Given the description of an element on the screen output the (x, y) to click on. 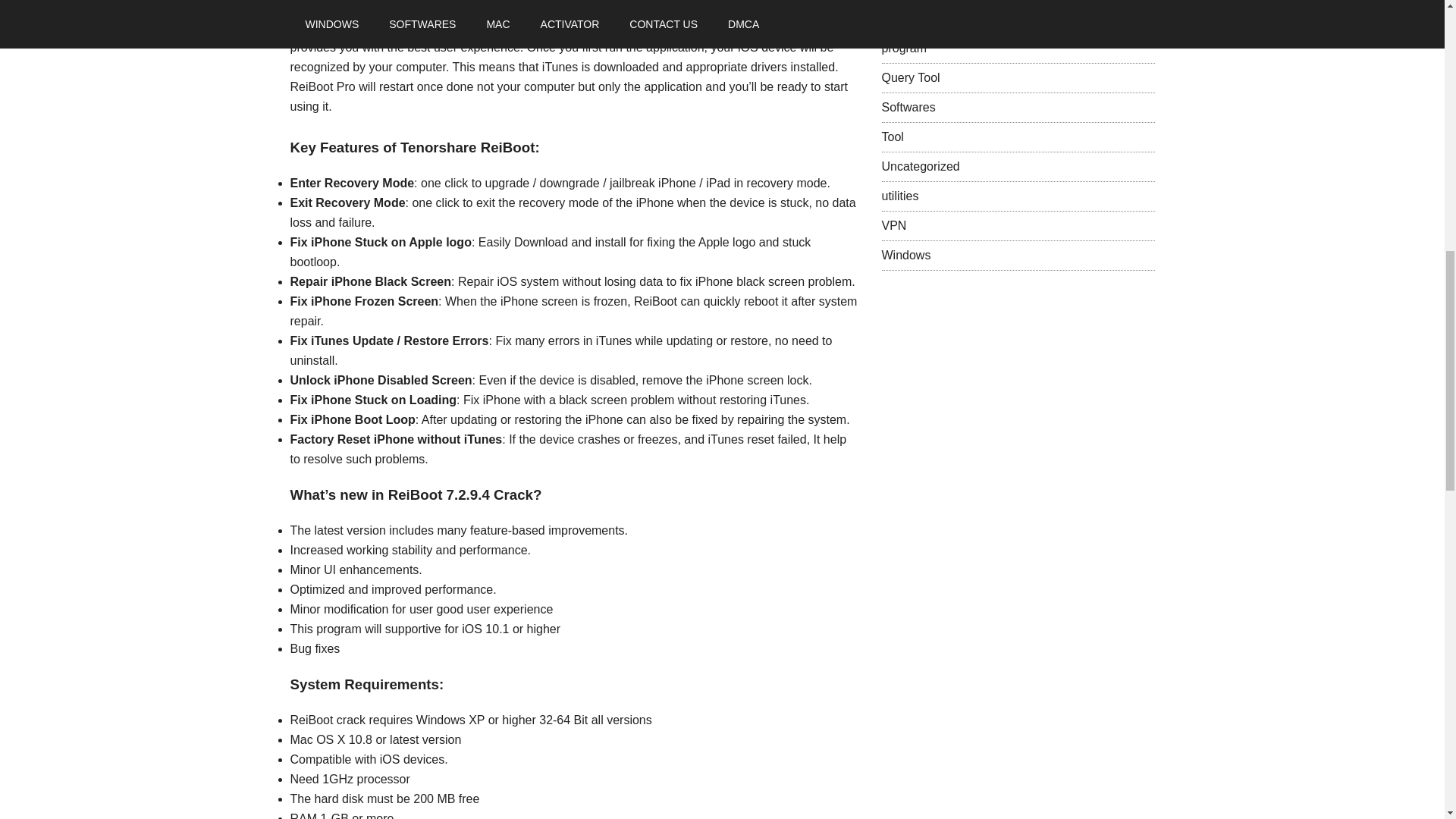
Query Tool (909, 77)
Tool (891, 136)
Softwares (907, 106)
program (903, 47)
multimedia (909, 18)
